Given the description of an element on the screen output the (x, y) to click on. 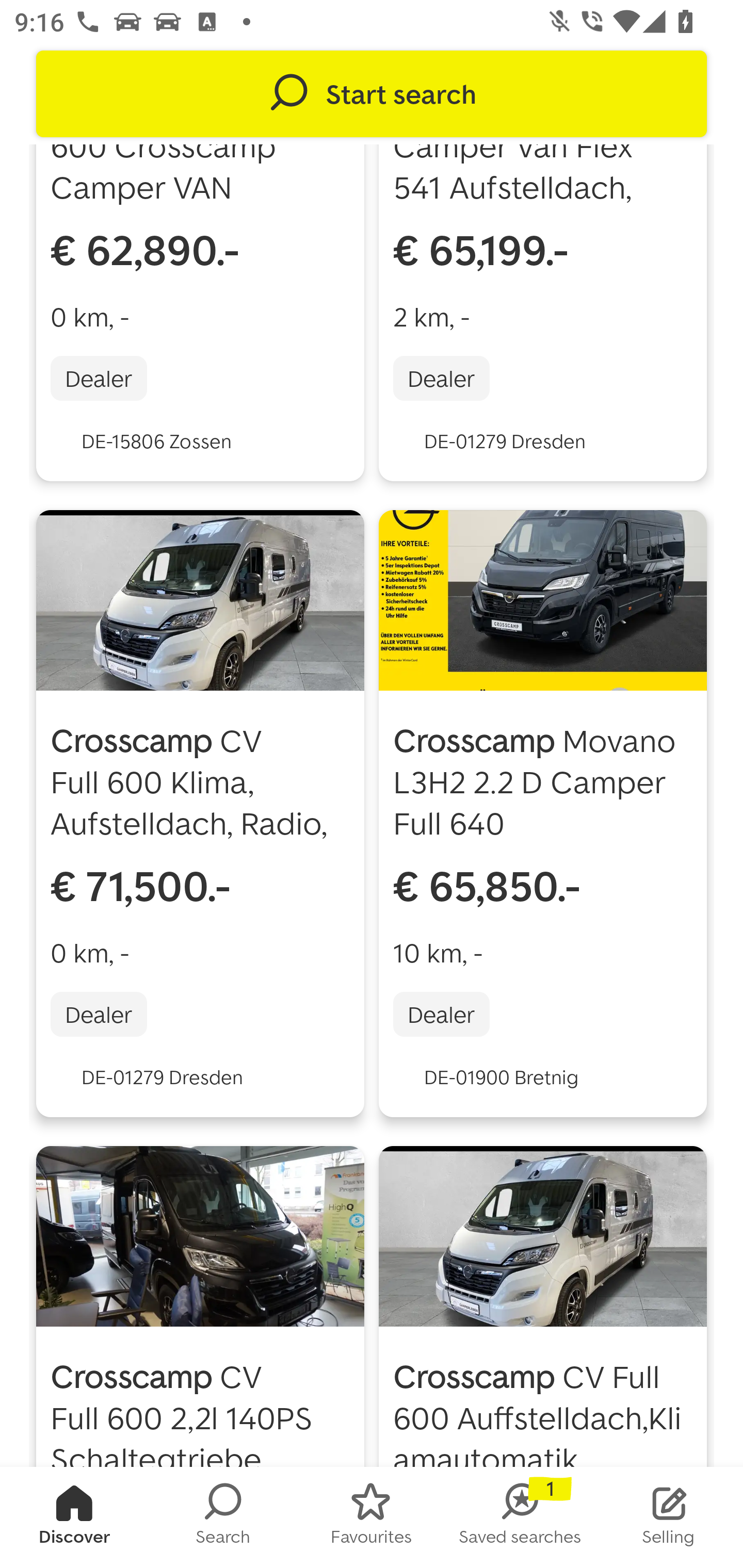
Start search (371, 93)
HOMESCREEN Discover (74, 1517)
SEARCH Search (222, 1517)
FAVORITES Favourites (371, 1517)
SAVED_SEARCHES Saved searches 1 (519, 1517)
STOCK_LIST Selling (668, 1517)
